Given the description of an element on the screen output the (x, y) to click on. 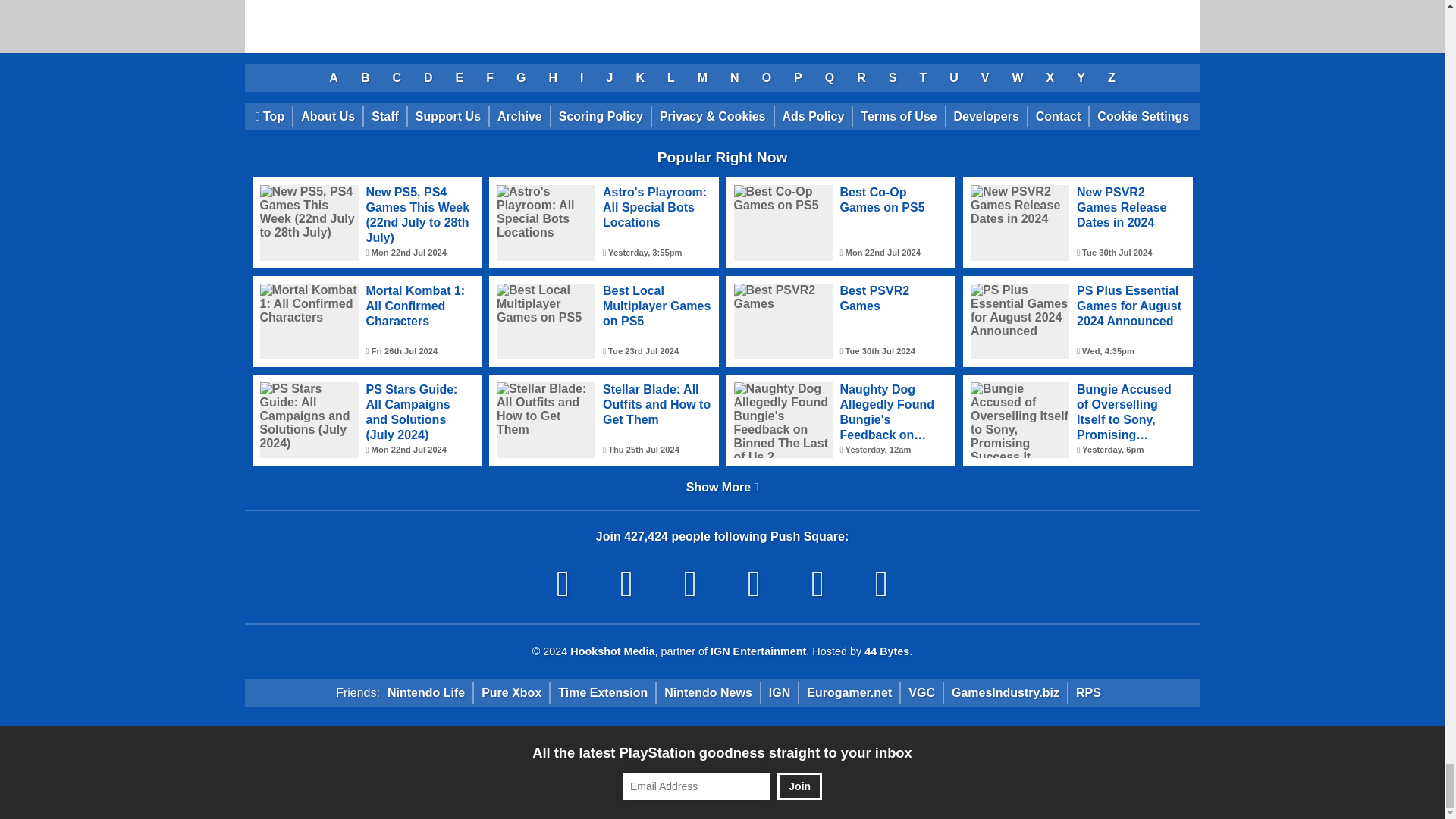
Join (799, 786)
